Given the description of an element on the screen output the (x, y) to click on. 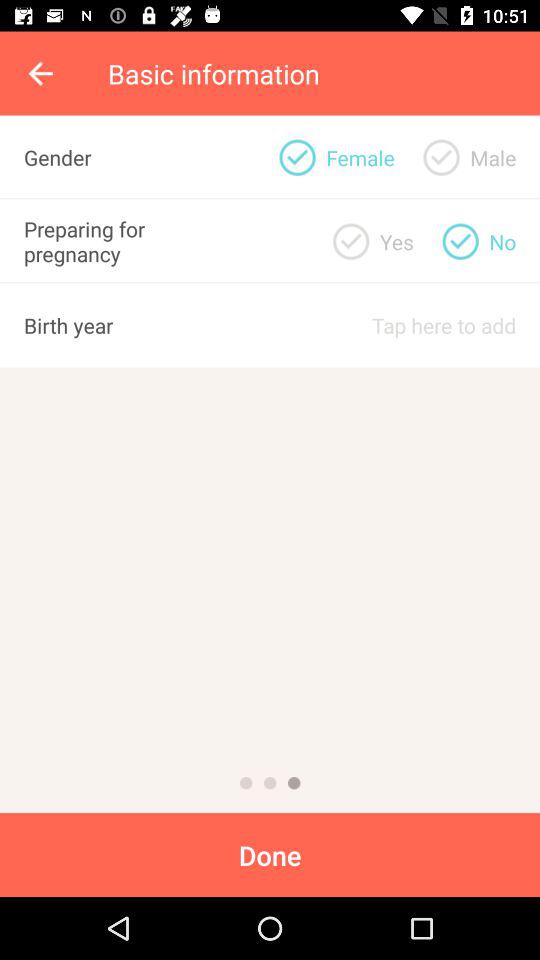
choose gender (297, 157)
